Given the description of an element on the screen output the (x, y) to click on. 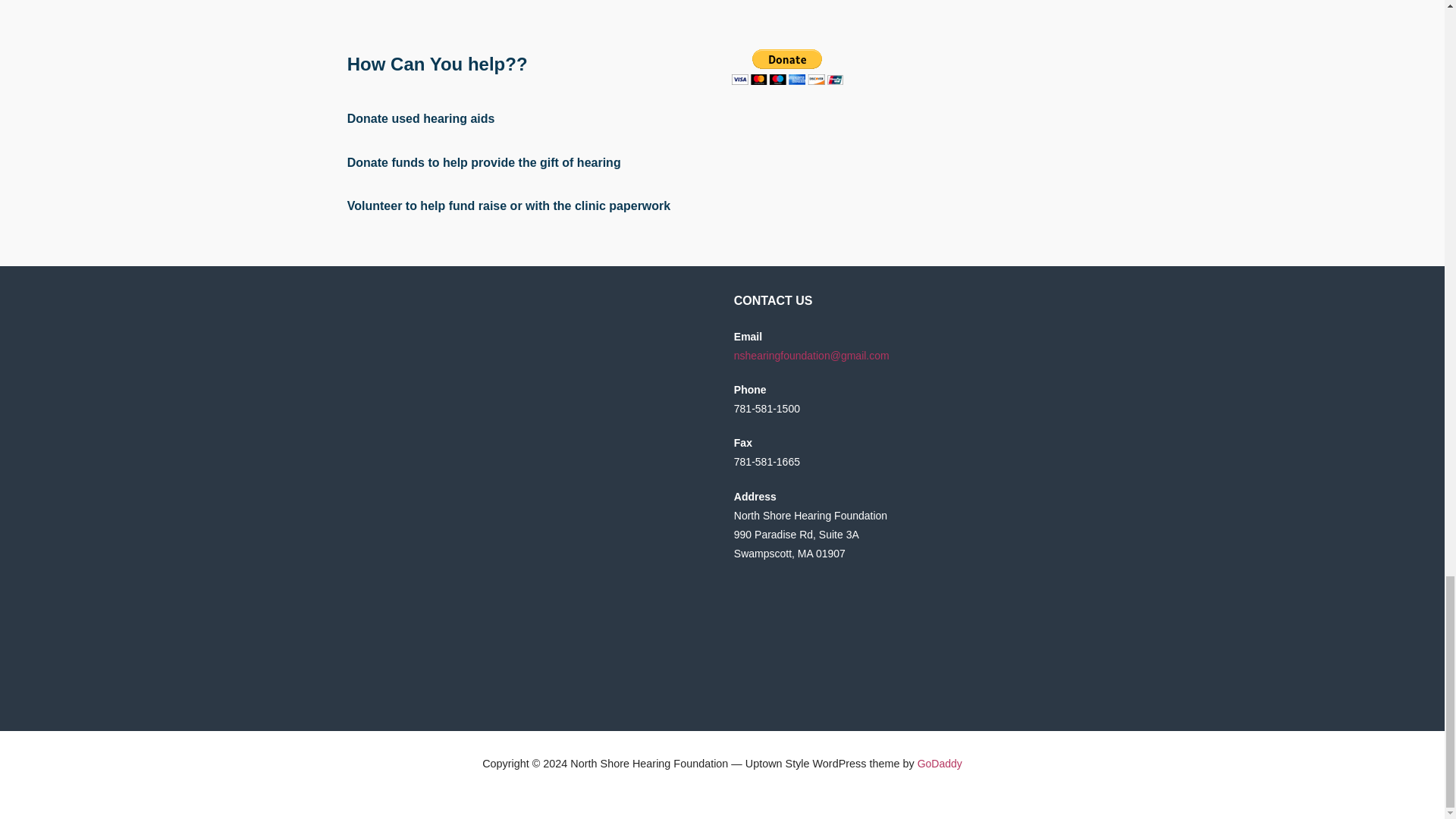
GoDaddy (939, 763)
